Given the description of an element on the screen output the (x, y) to click on. 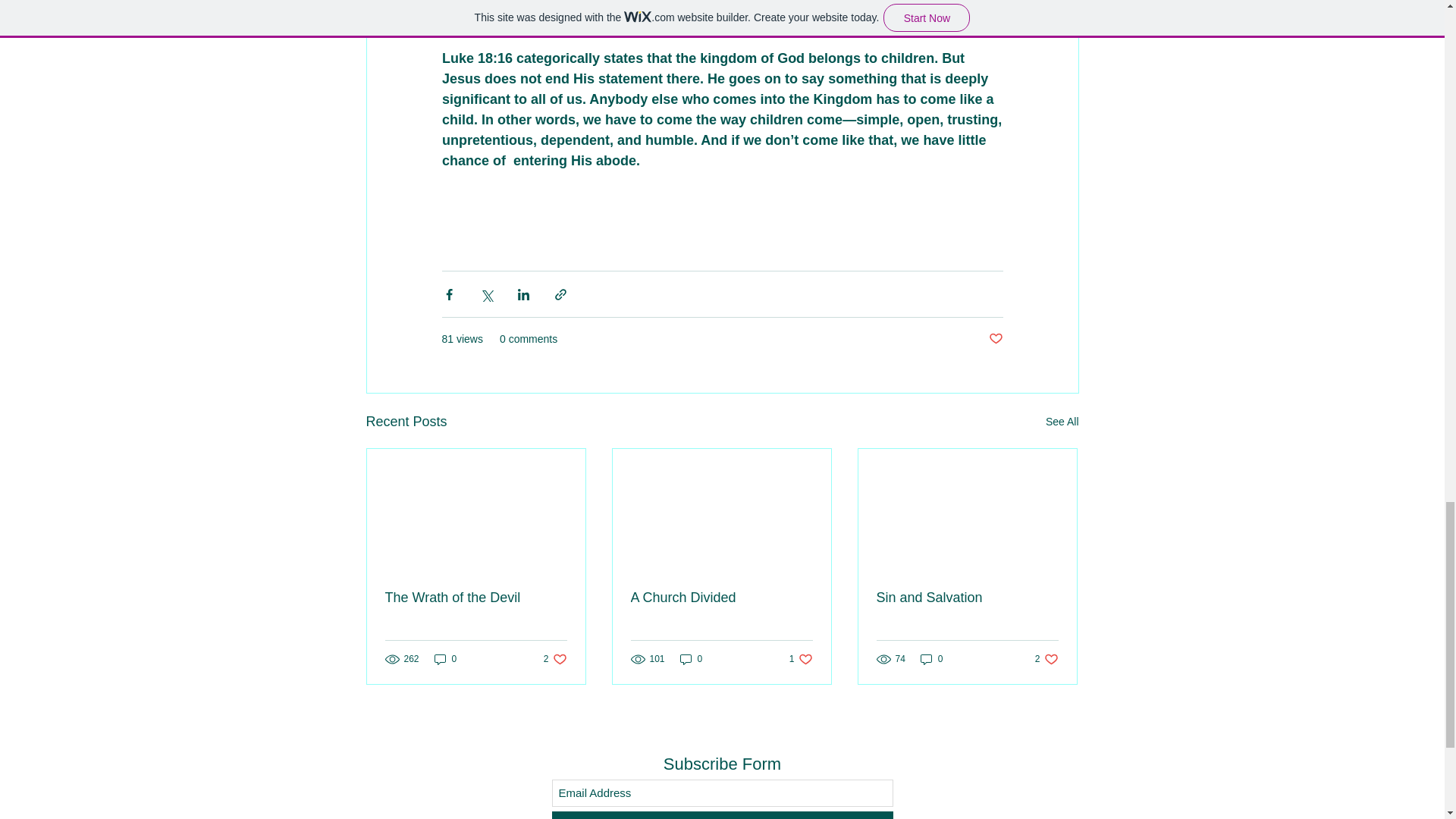
See All (1046, 658)
A Church Divided (1061, 422)
Post not marked as liked (555, 658)
0 (721, 597)
Sin and Salvation (995, 339)
0 (800, 658)
0 (445, 658)
